Given the description of an element on the screen output the (x, y) to click on. 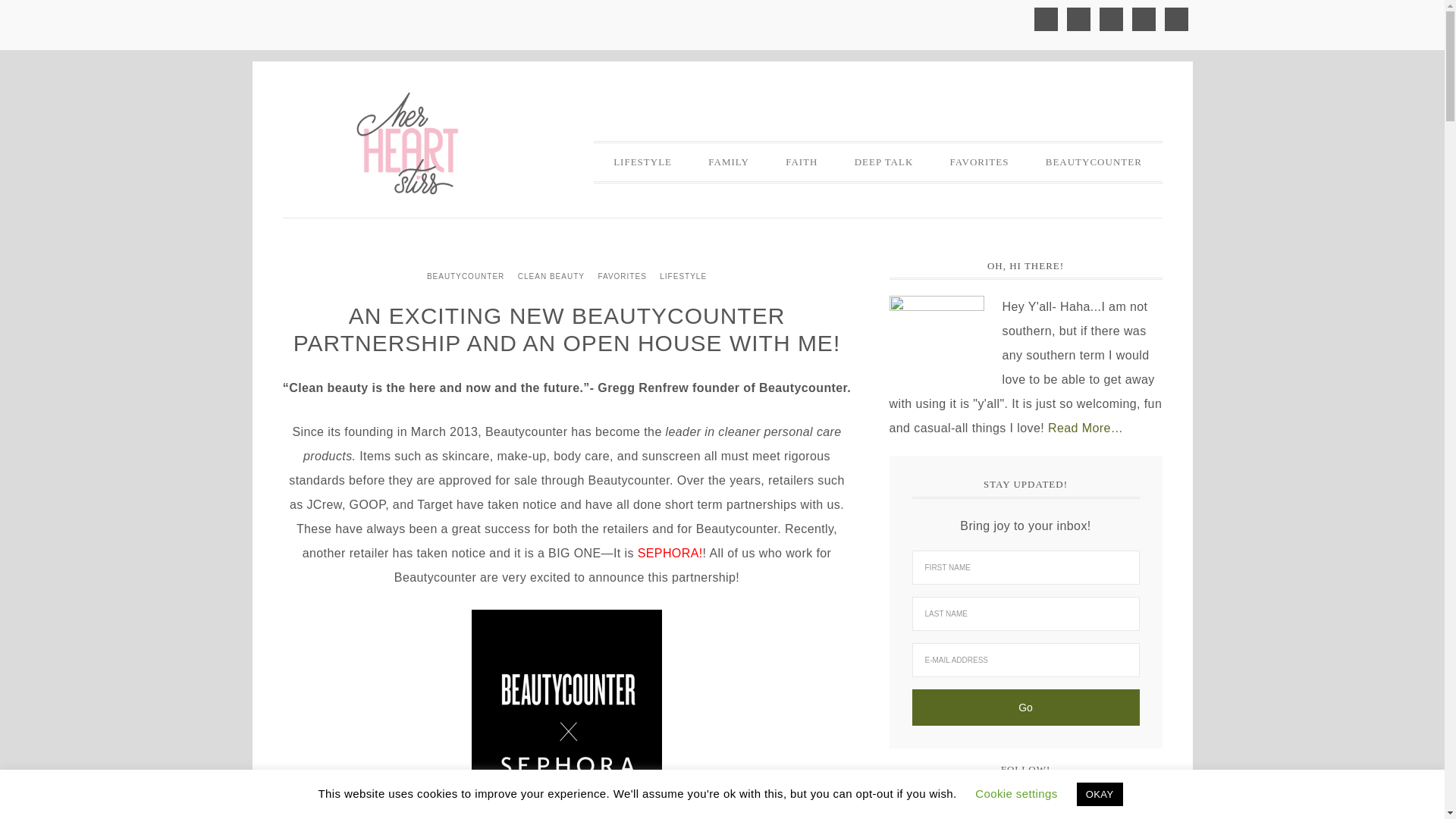
FAITH (801, 161)
CLEAN BEAUTY (550, 275)
BEAUTYCOUNTER (1093, 161)
HER HEART STIRS (407, 142)
BEAUTYCOUNTER (465, 275)
DEEP TALK (884, 161)
Go (1024, 706)
FAVORITES (621, 275)
FAMILY (728, 161)
FAVORITES (979, 161)
